Given the description of an element on the screen output the (x, y) to click on. 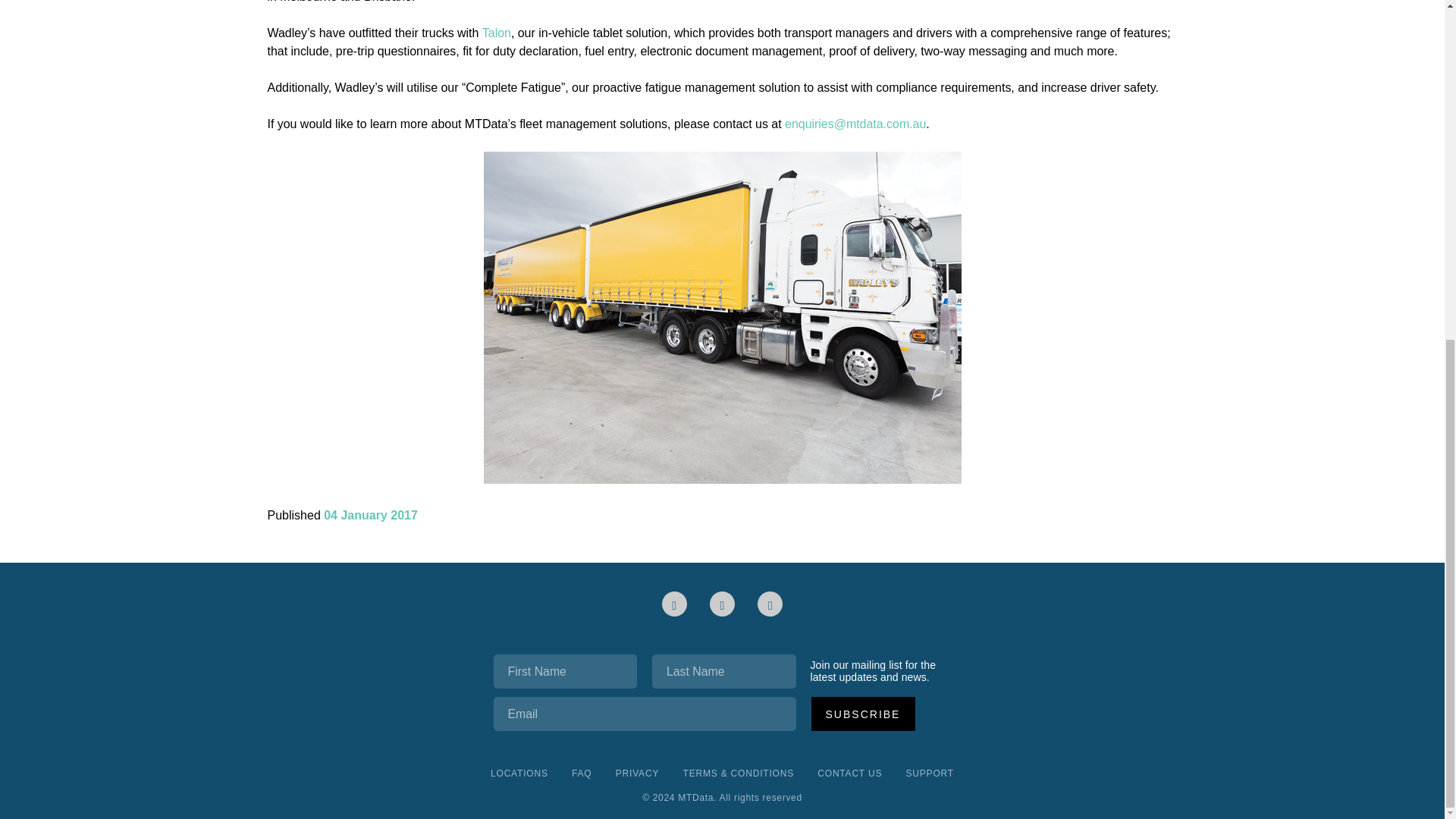
Talon (496, 33)
Twitter (770, 603)
Linkedin (674, 603)
SUBSCRIBE (862, 713)
Facebook (722, 603)
